Given the description of an element on the screen output the (x, y) to click on. 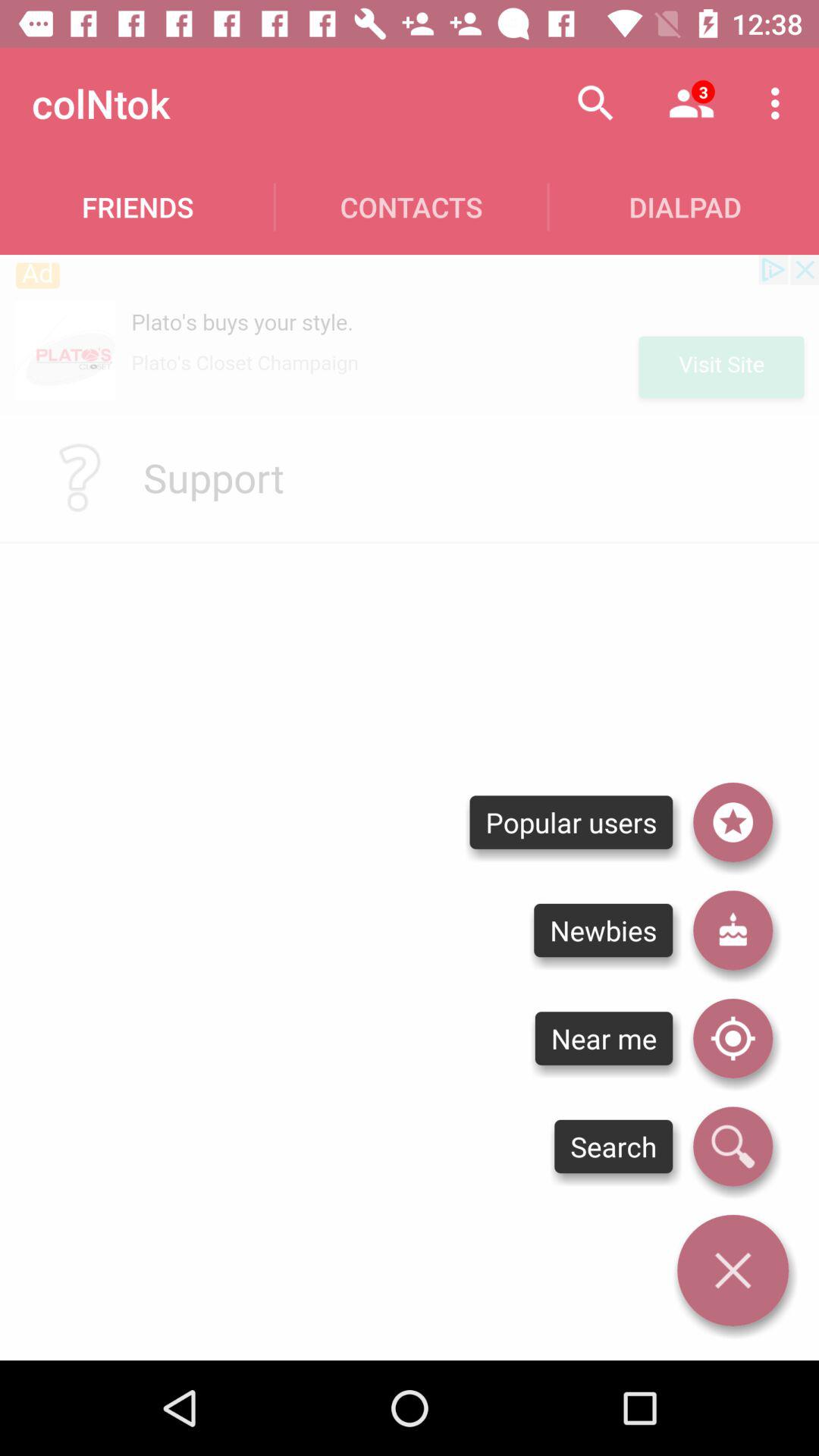
favorite list (733, 822)
